Given the description of an element on the screen output the (x, y) to click on. 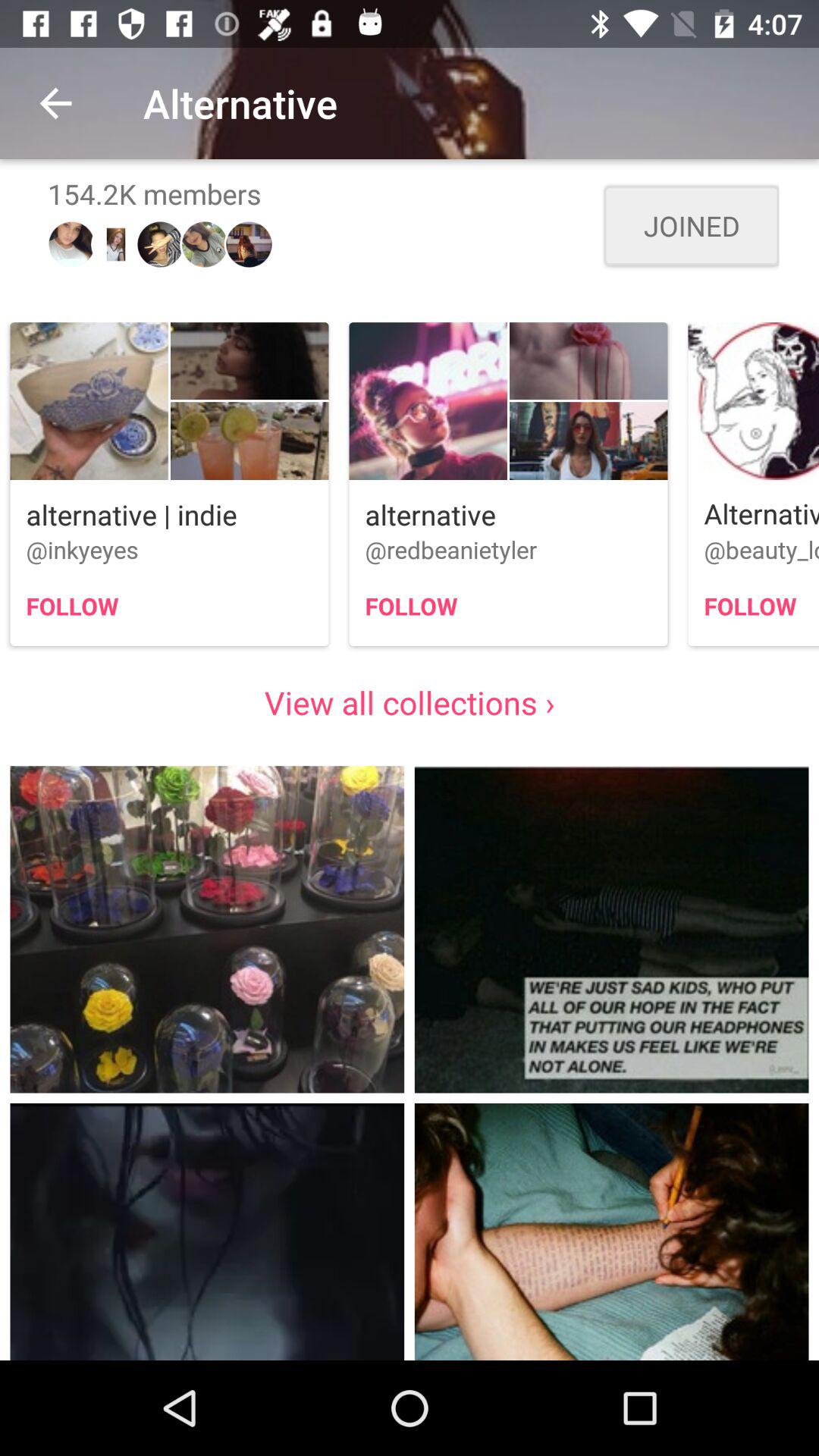
swipe to the joined icon (691, 225)
